Given the description of an element on the screen output the (x, y) to click on. 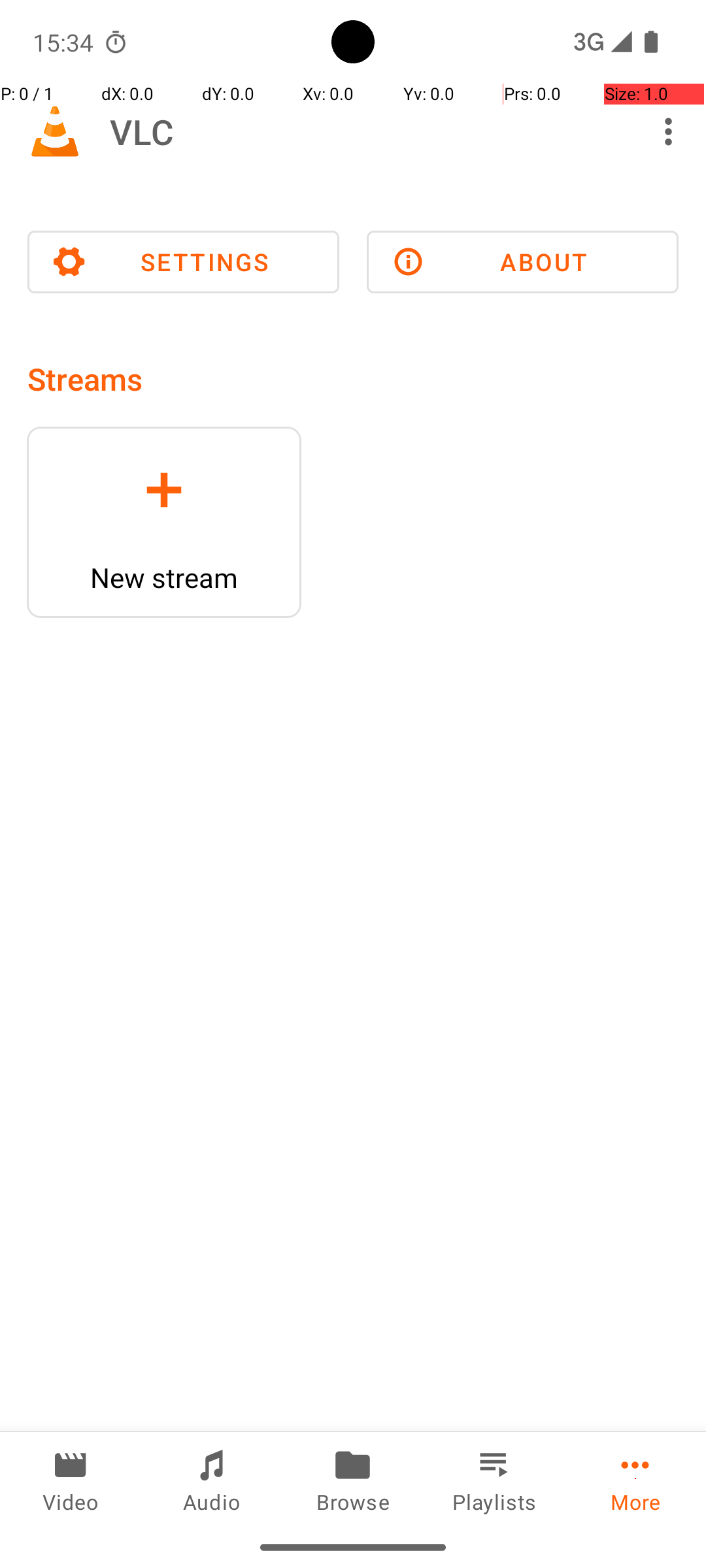
SETTINGS Element type: android.widget.Button (183, 261)
ABOUT Element type: android.widget.Button (522, 261)
Streams Element type: android.widget.TextView (84, 378)
New stream Element type: android.widget.TextView (163, 576)
